Given the description of an element on the screen output the (x, y) to click on. 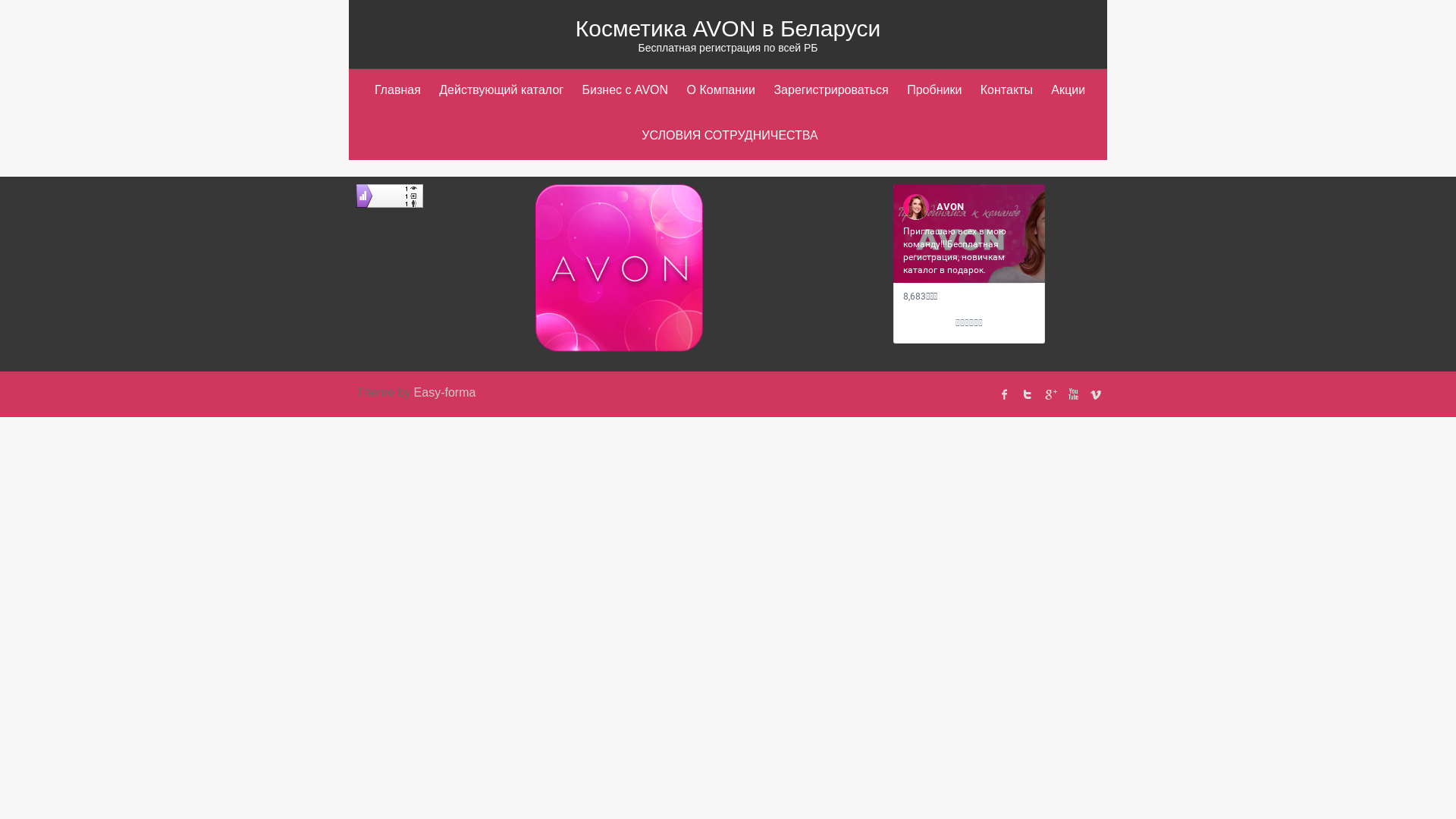
facebook Element type: hover (1004, 393)
twitter Element type: text (1027, 393)
Youtube Element type: text (1072, 393)
Easy-forma Element type: text (445, 391)
Vimeo Element type: text (1095, 393)
Google Plus Element type: text (1049, 393)
